Given the description of an element on the screen output the (x, y) to click on. 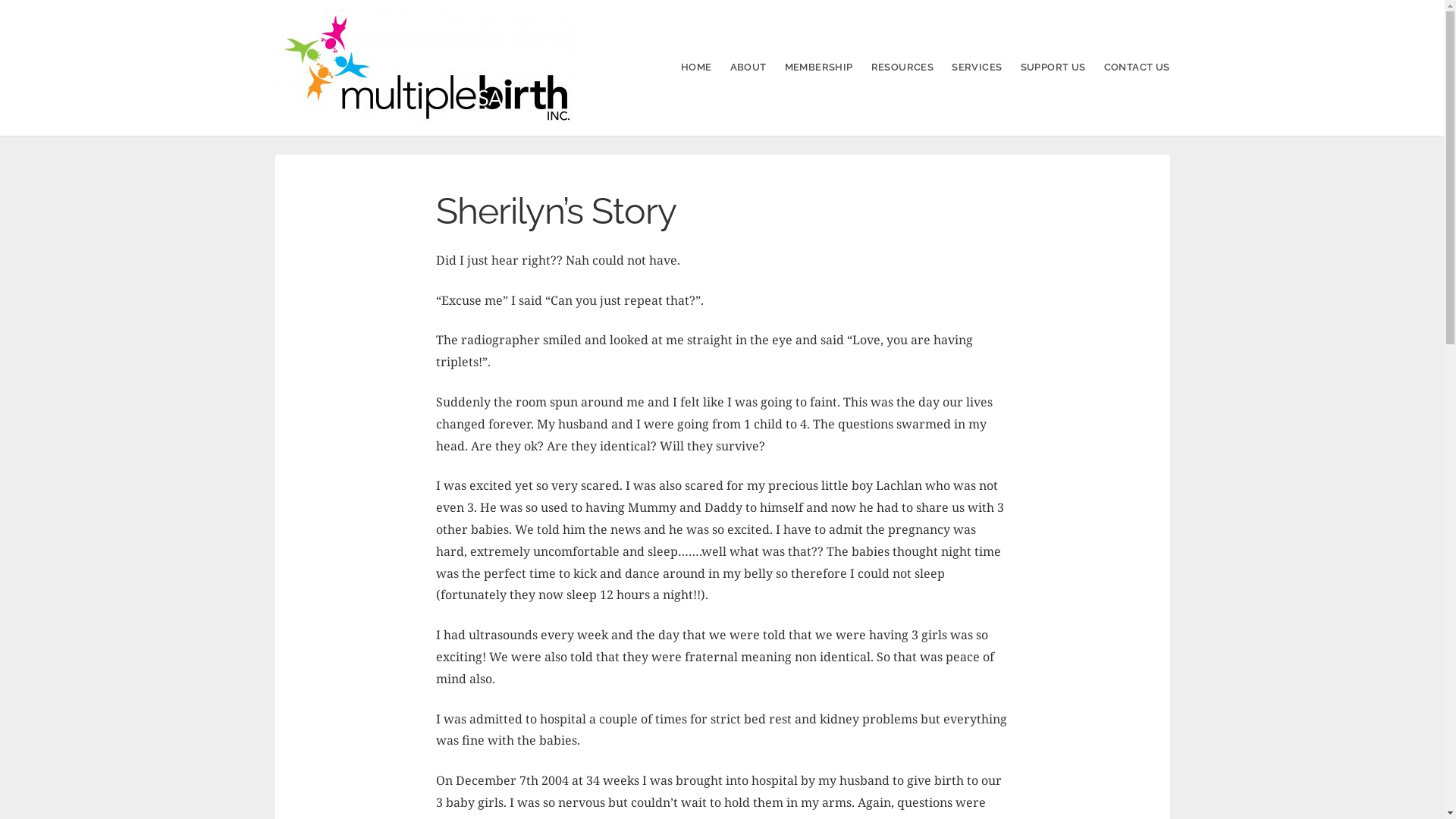
ABOUT Element type: text (748, 66)
CONTACT US Element type: text (1137, 66)
MEMBERSHIP Element type: text (818, 66)
RESOURCES Element type: text (902, 66)
SERVICES Element type: text (976, 66)
HOME Element type: text (696, 66)
SUPPORT US Element type: text (1052, 66)
